Given the description of an element on the screen output the (x, y) to click on. 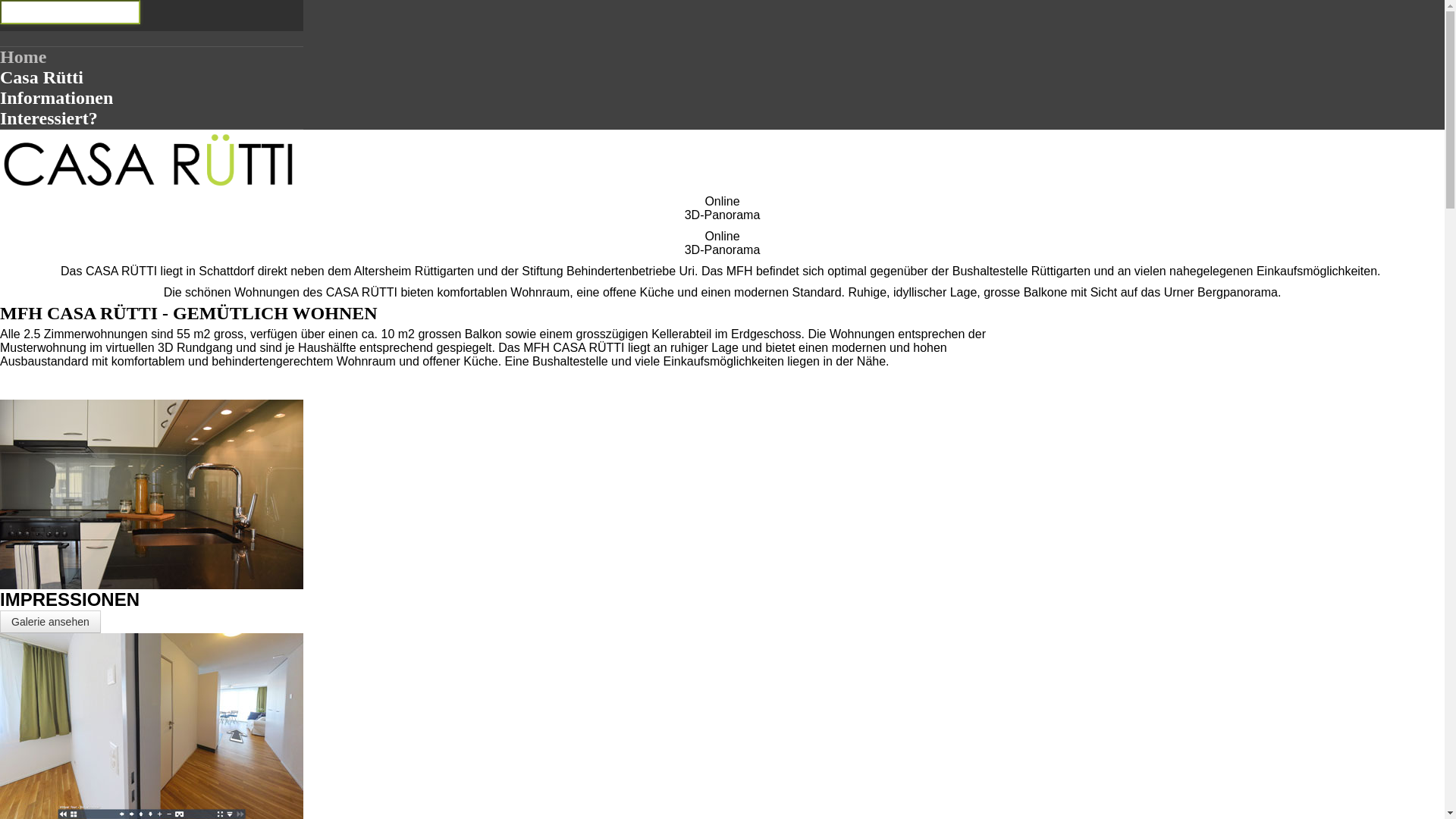
Interessiert? Element type: text (48, 118)
Galerie ansehen Element type: text (50, 621)
Online
3D-Panorama Element type: text (722, 207)
Informationen Element type: text (56, 97)
Online
3D-Panorama Element type: text (722, 242)
Home Element type: text (23, 56)
